Given the description of an element on the screen output the (x, y) to click on. 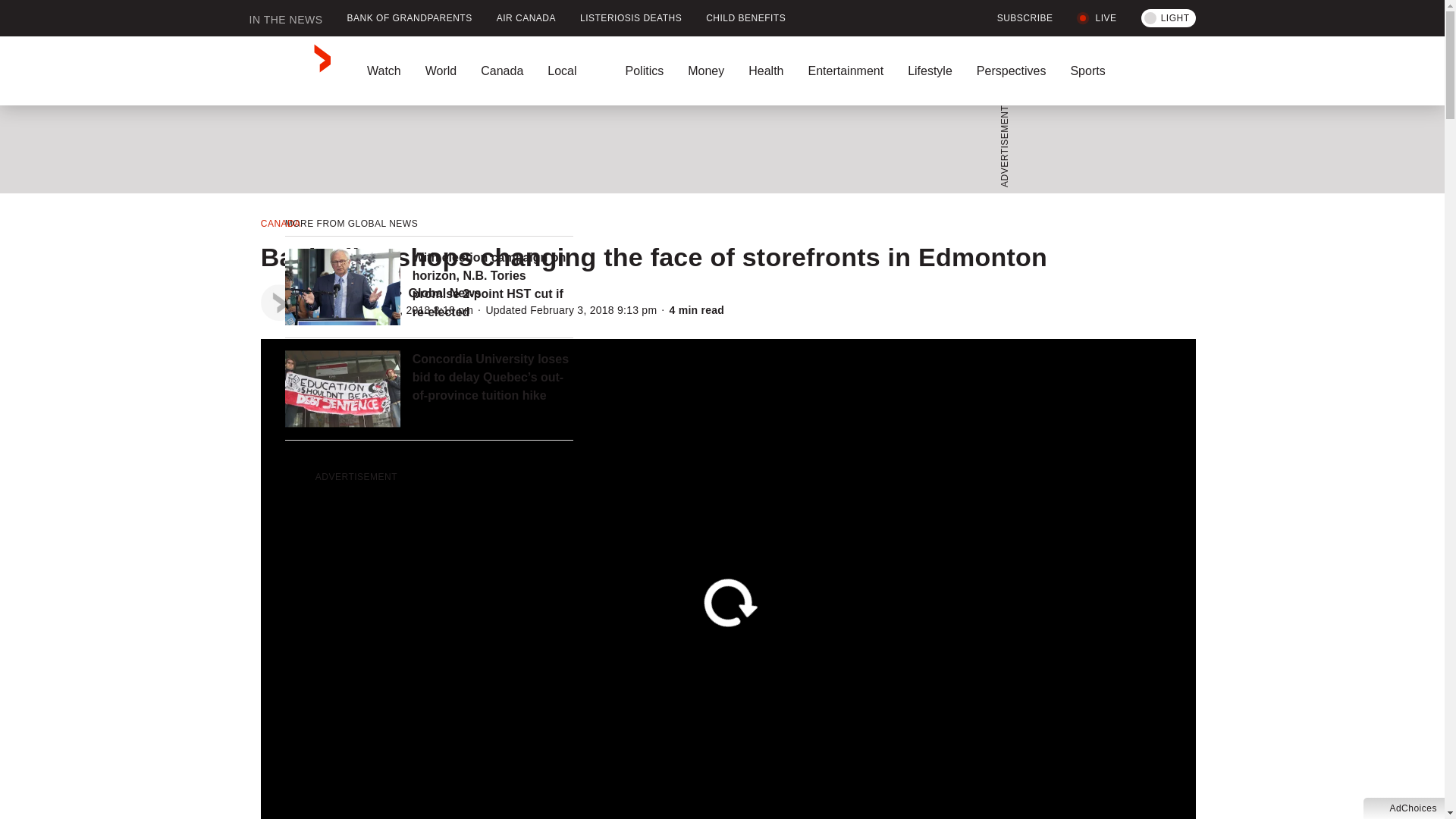
GlobalNews home (289, 70)
Local (573, 70)
Perspectives (1010, 70)
BANK OF GRANDPARENTS (409, 18)
AIR CANADA (525, 18)
3rd party ad content (716, 149)
3rd party ad content (429, 580)
LISTERIOSIS DEATHS (630, 18)
CHILD BENEFITS (745, 18)
SUBSCRIBE (1015, 18)
LIVE (1096, 18)
Politics (643, 70)
Entertainment (844, 70)
Canada (501, 70)
Posts by Julia Wong (358, 293)
